Given the description of an element on the screen output the (x, y) to click on. 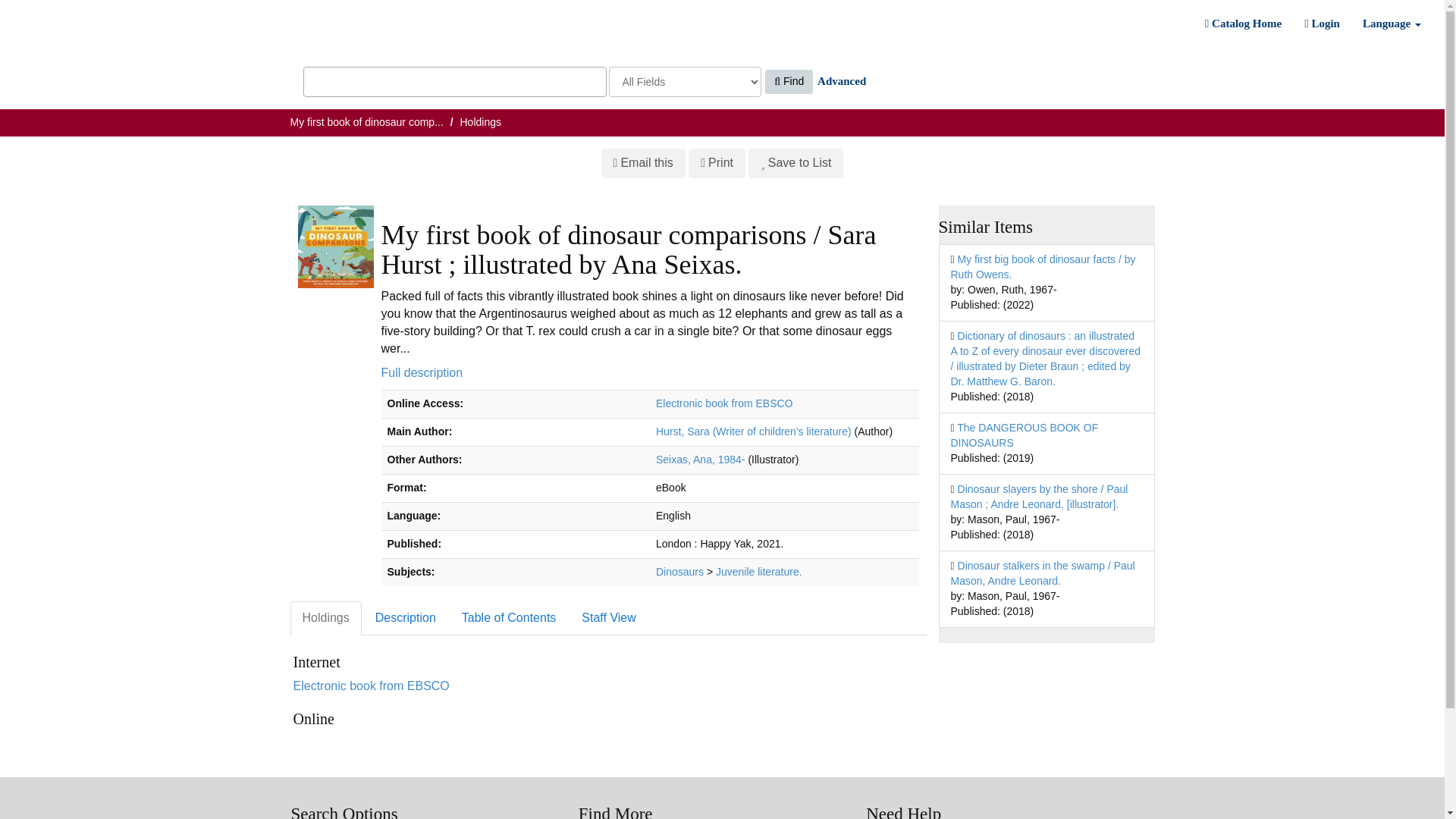
Dinosaurs (679, 571)
Dinosaurs Juvenile literature. (759, 571)
Skip to content (37, 7)
Find (788, 81)
Lafayette College Library (79, 31)
Language (1391, 23)
Catalog Home (1242, 23)
Login (1321, 23)
